Given the description of an element on the screen output the (x, y) to click on. 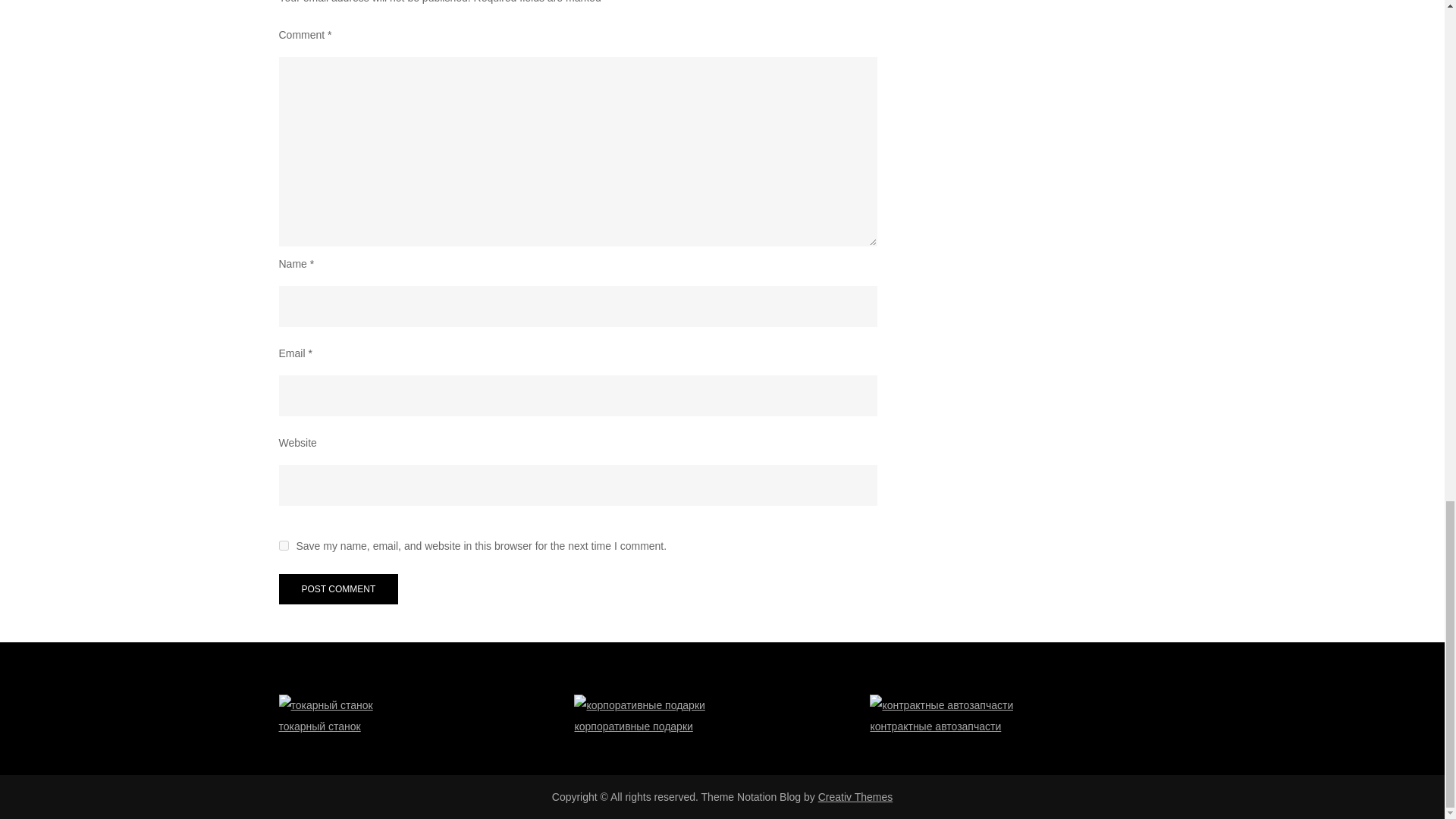
Post Comment (338, 589)
Post Comment (338, 589)
yes (283, 545)
Creativ Themes (855, 797)
